Given the description of an element on the screen output the (x, y) to click on. 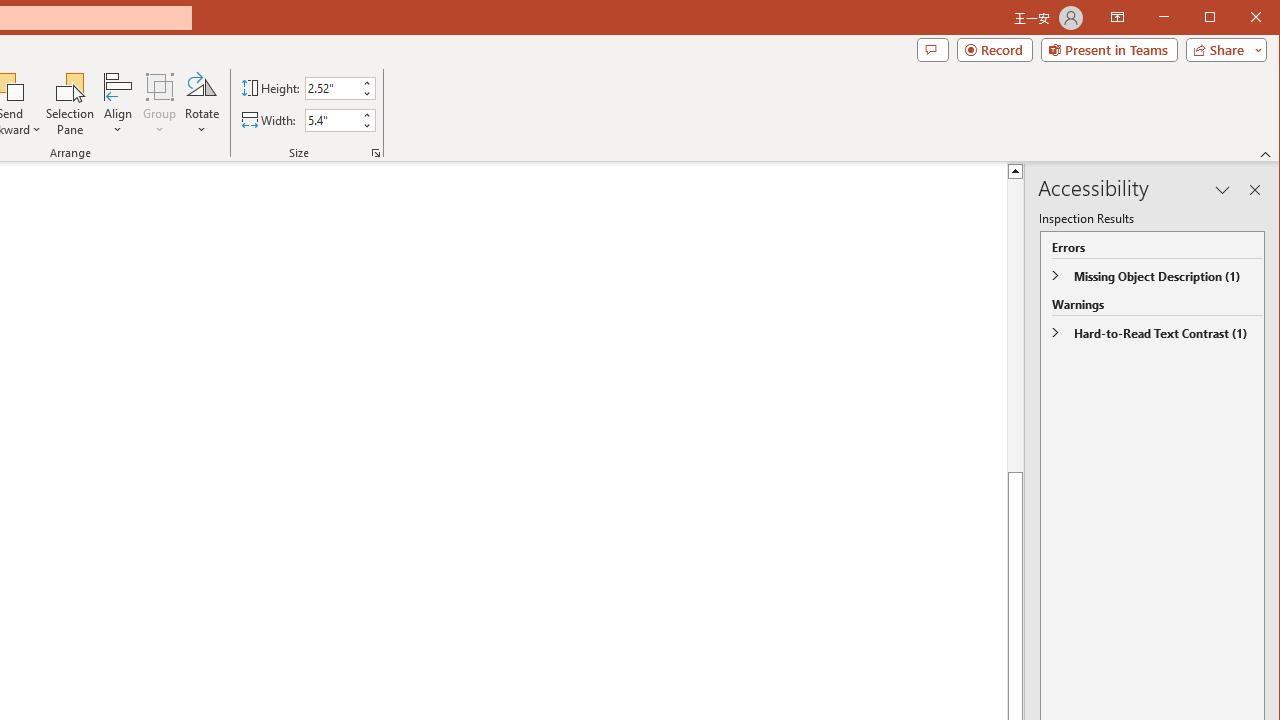
Selection Pane... (70, 104)
Shape Height (331, 88)
Shape Width (331, 120)
Size and Position... (376, 152)
